Given the description of an element on the screen output the (x, y) to click on. 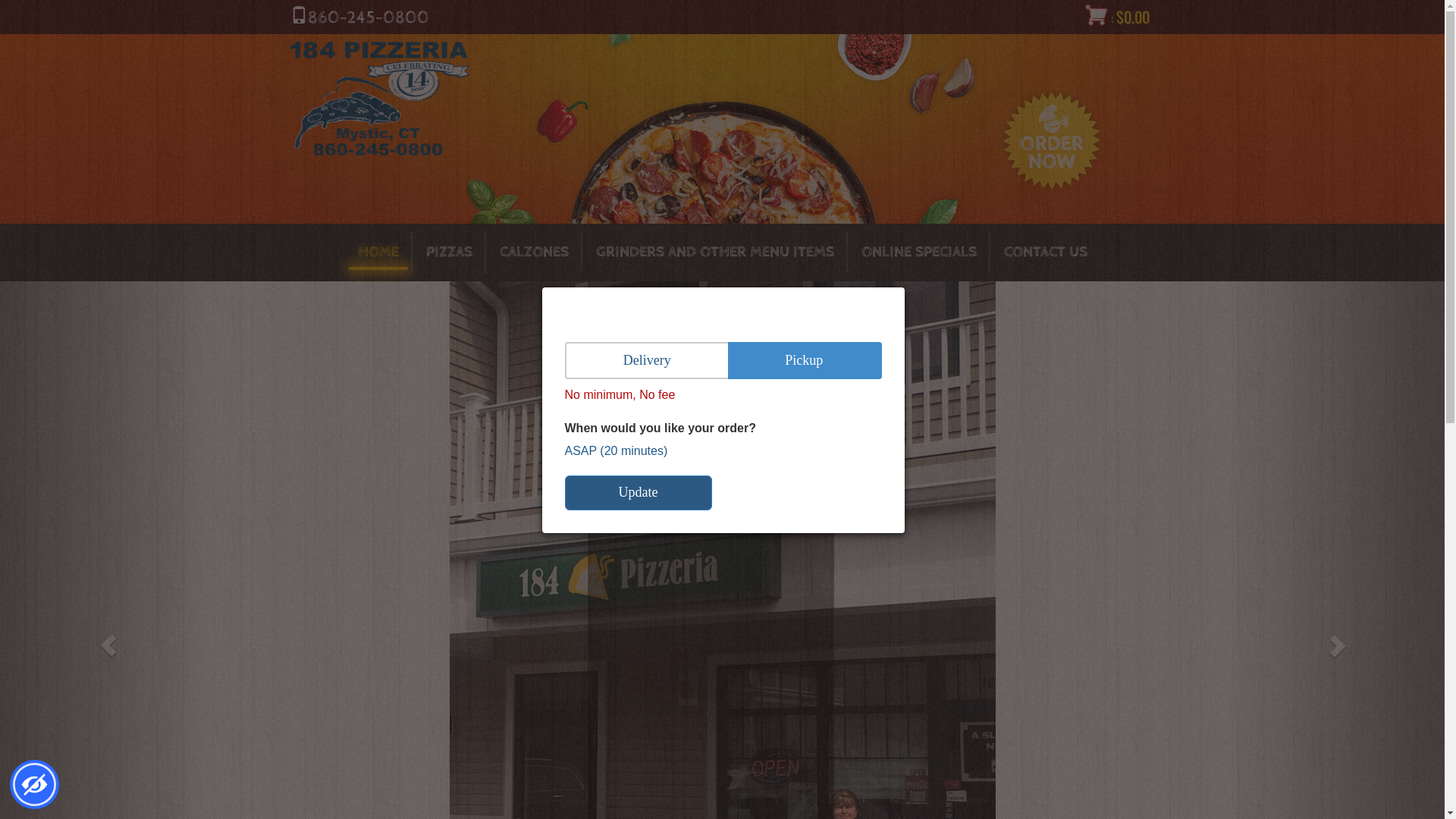
Phone
860-245-0800 Element type: text (358, 17)
PIZZAS Element type: text (449, 252)
Order Now Element type: text (1050, 140)
HOME Element type: text (378, 252)
Pickup Element type: text (804, 360)
CALZONES Element type: text (533, 252)
GRINDERS AND OTHER MENU ITEMS Element type: text (714, 252)
Delivery Element type: text (645, 360)
Logo 184 Pizzeria Element type: text (379, 98)
Update Element type: text (637, 492)
ASAP (20 minutes) Element type: text (615, 450)
CONTACT US Element type: text (1045, 252)
ORDER NOW Element type: text (710, 474)
ONLINE SPECIALS Element type: text (918, 252)
: $0.00 Element type: text (1116, 18)
